Given the description of an element on the screen output the (x, y) to click on. 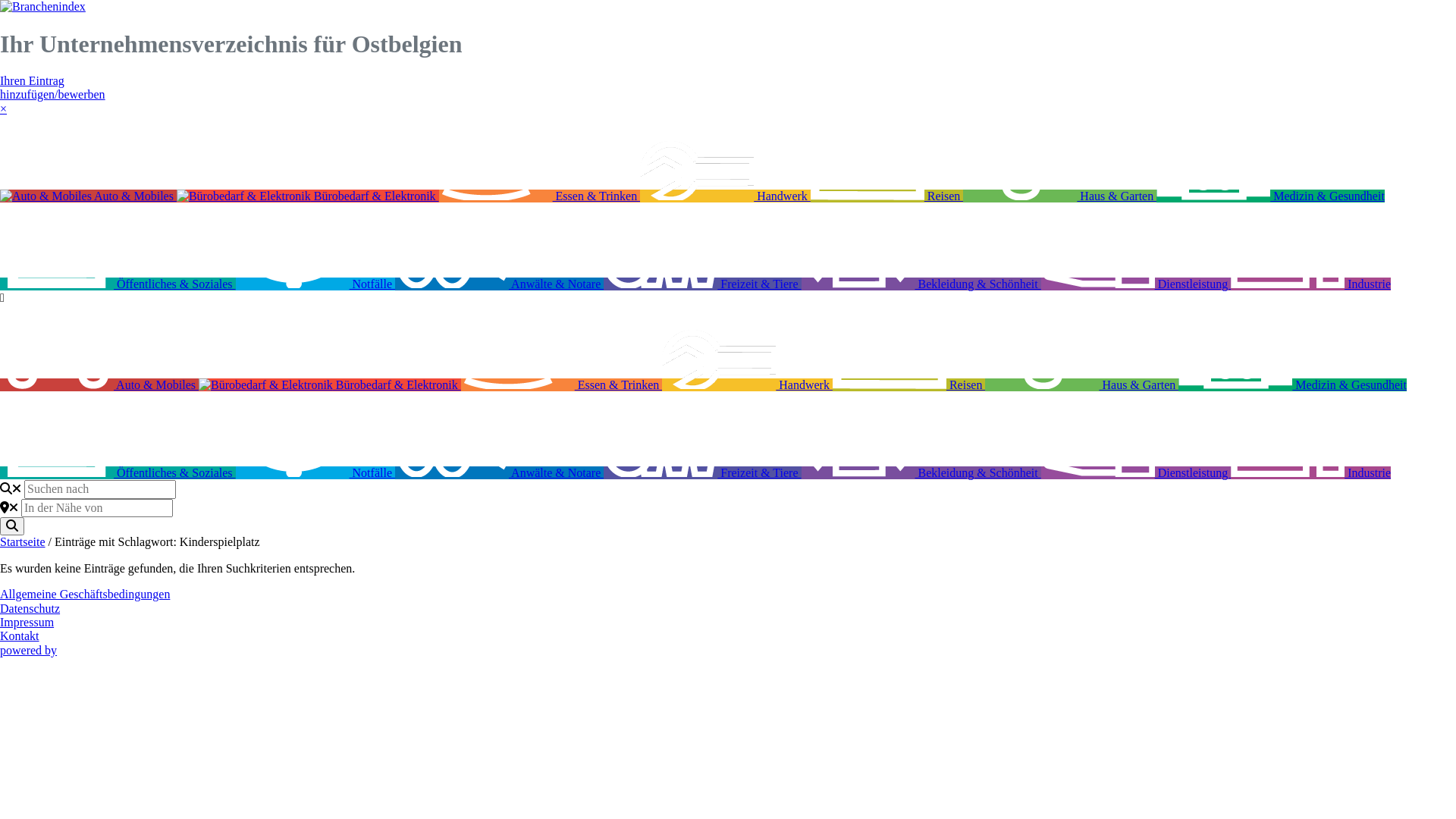
Industrie Element type: text (1310, 283)
Auto & Mobiles Element type: text (88, 195)
Essen & Trinken Element type: text (539, 195)
Dienstleistung Element type: text (1135, 472)
Reisen Element type: text (886, 195)
Kontakt Element type: text (19, 635)
Reisen Element type: text (908, 384)
Datenschutz Element type: text (29, 608)
Essen & Trinken Element type: text (561, 384)
Medizin & Gesundheit Element type: text (1270, 195)
Handwerk Element type: text (725, 195)
Freizeit & Tiere Element type: text (701, 472)
Haus & Garten Element type: text (1059, 195)
powered by Element type: text (70, 649)
Auto & Mobiles Element type: text (99, 384)
Startseite Element type: text (22, 541)
Haus & Garten Element type: text (1081, 384)
Medizin & Gesundheit Element type: text (1292, 384)
Freizeit & Tiere Element type: text (701, 283)
Impressum Element type: text (26, 621)
Industrie Element type: text (1310, 472)
Dienstleistung Element type: text (1135, 283)
Suchen Element type: text (12, 526)
Handwerk Element type: text (747, 384)
